Given the description of an element on the screen output the (x, y) to click on. 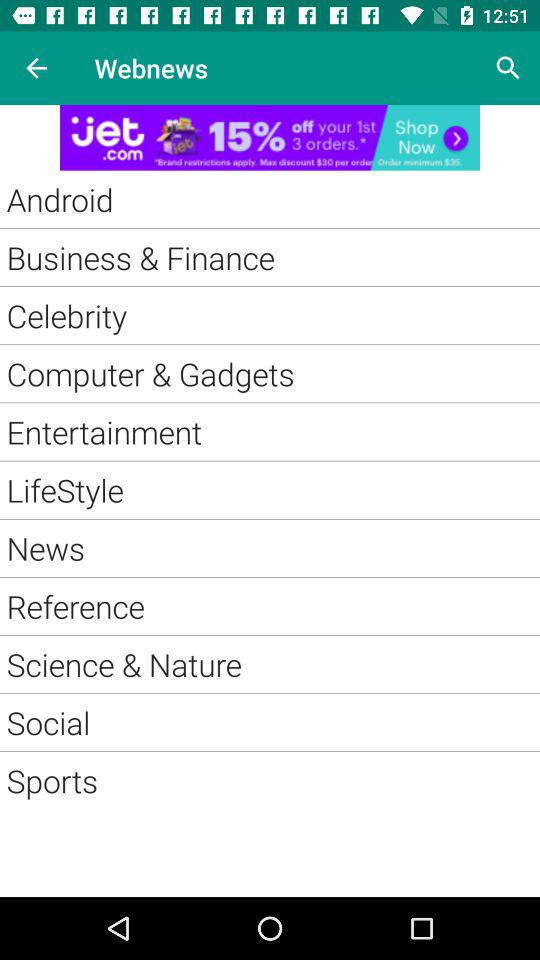
search (508, 67)
